Given the description of an element on the screen output the (x, y) to click on. 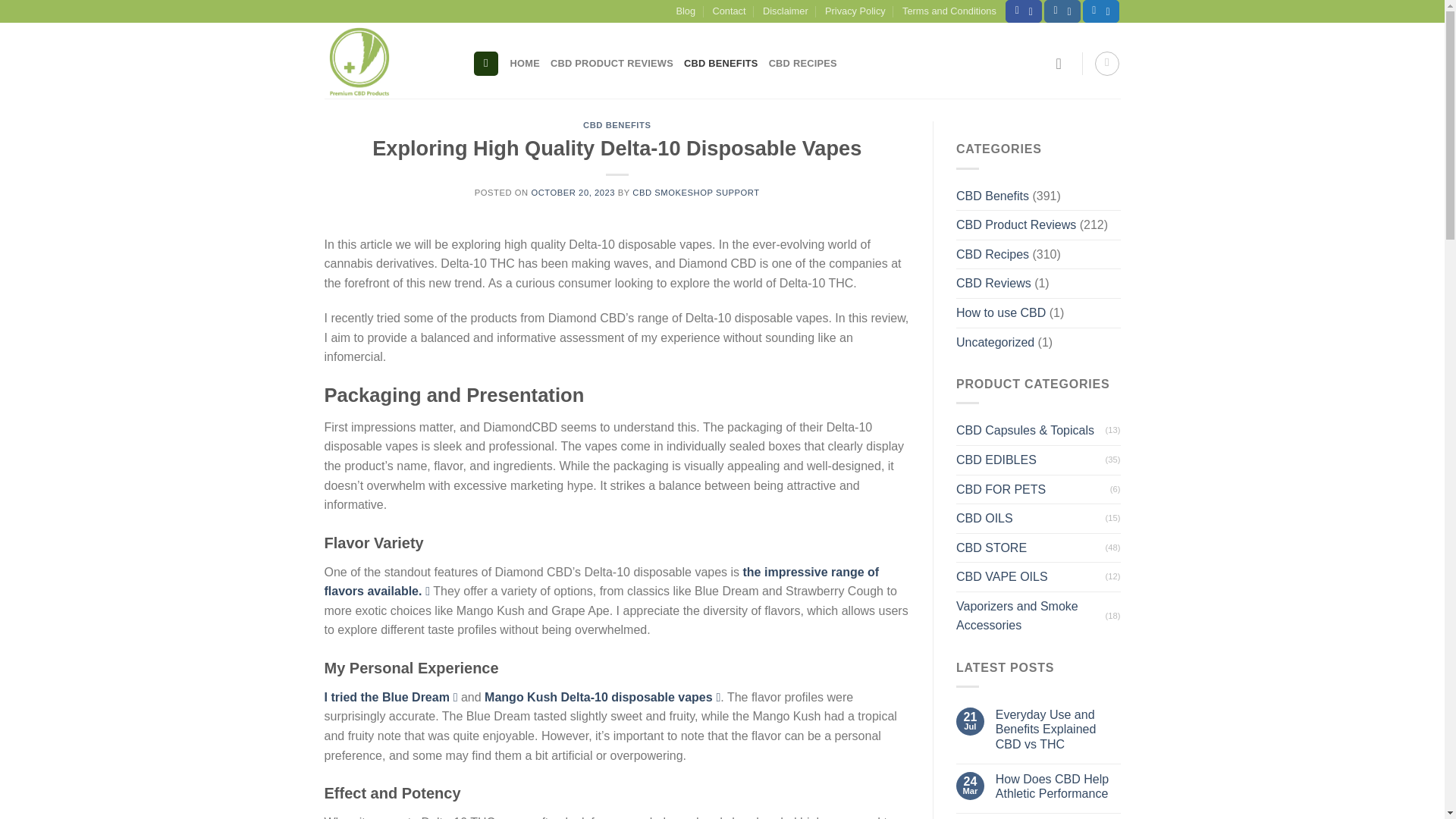
Blog (685, 11)
Cart (1106, 63)
HOME (525, 63)
CBD SMOKESHOP SUPPORT (694, 192)
CBD Benefits (992, 195)
CBD Smoke Shop.store - Premium CBD Products (386, 60)
Privacy Policy (855, 11)
OCTOBER 20, 2023 (572, 192)
Follow on Instagram (1061, 11)
I tried the Blue Dream (391, 697)
CBD RECIPES (802, 63)
Follow on Facebook (1024, 11)
Everyday Use and Benefits Explained CBD vs THC (1058, 729)
Mango Kush Delta-10 disposable vapes (602, 697)
